Given the description of an element on the screen output the (x, y) to click on. 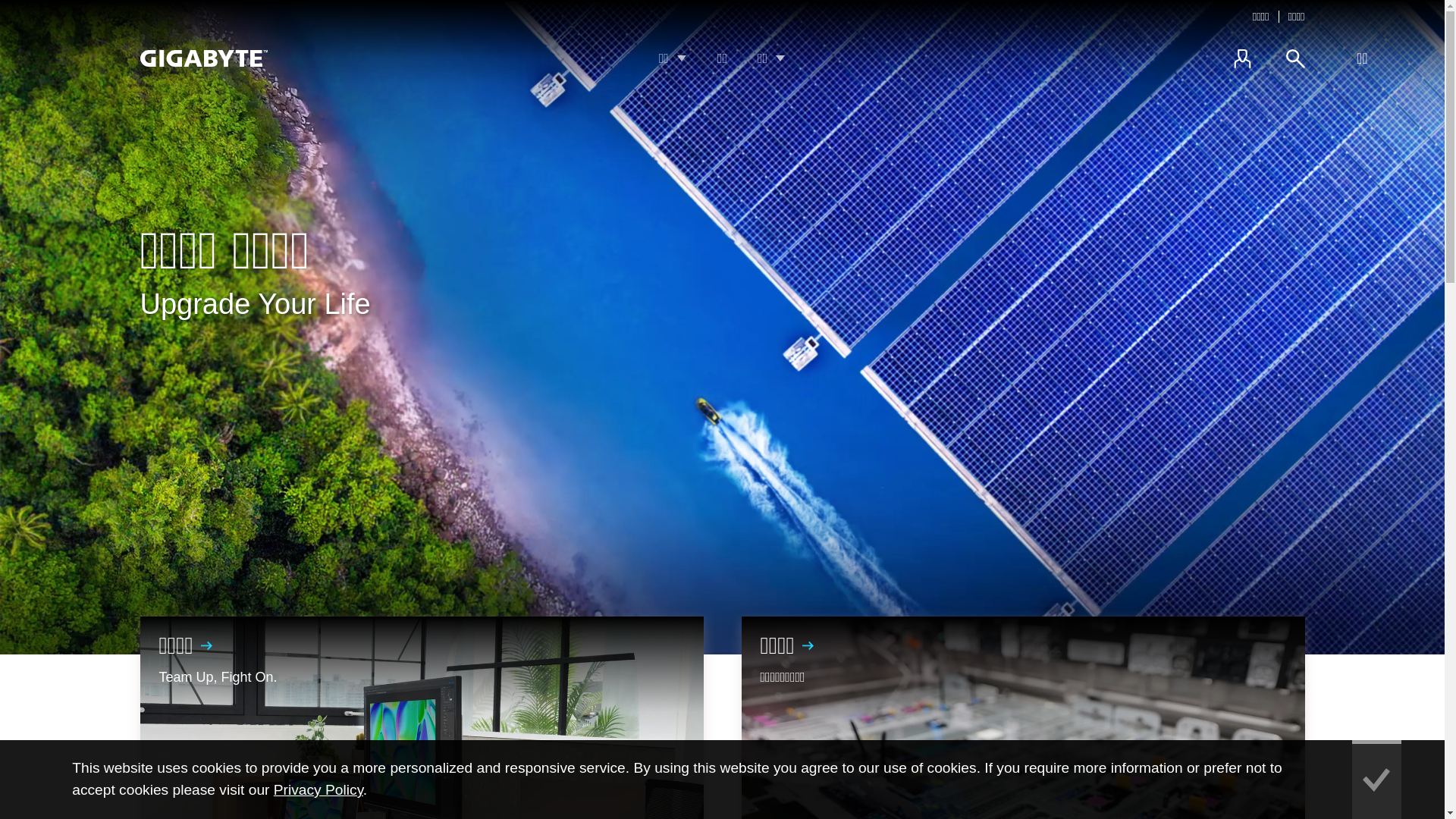
GIGABYTE Element type: hover (202, 58)
Member Element type: hover (1242, 57)
Privacy Policy Element type: text (318, 789)
Search Element type: hover (1295, 57)
